Given the description of an element on the screen output the (x, y) to click on. 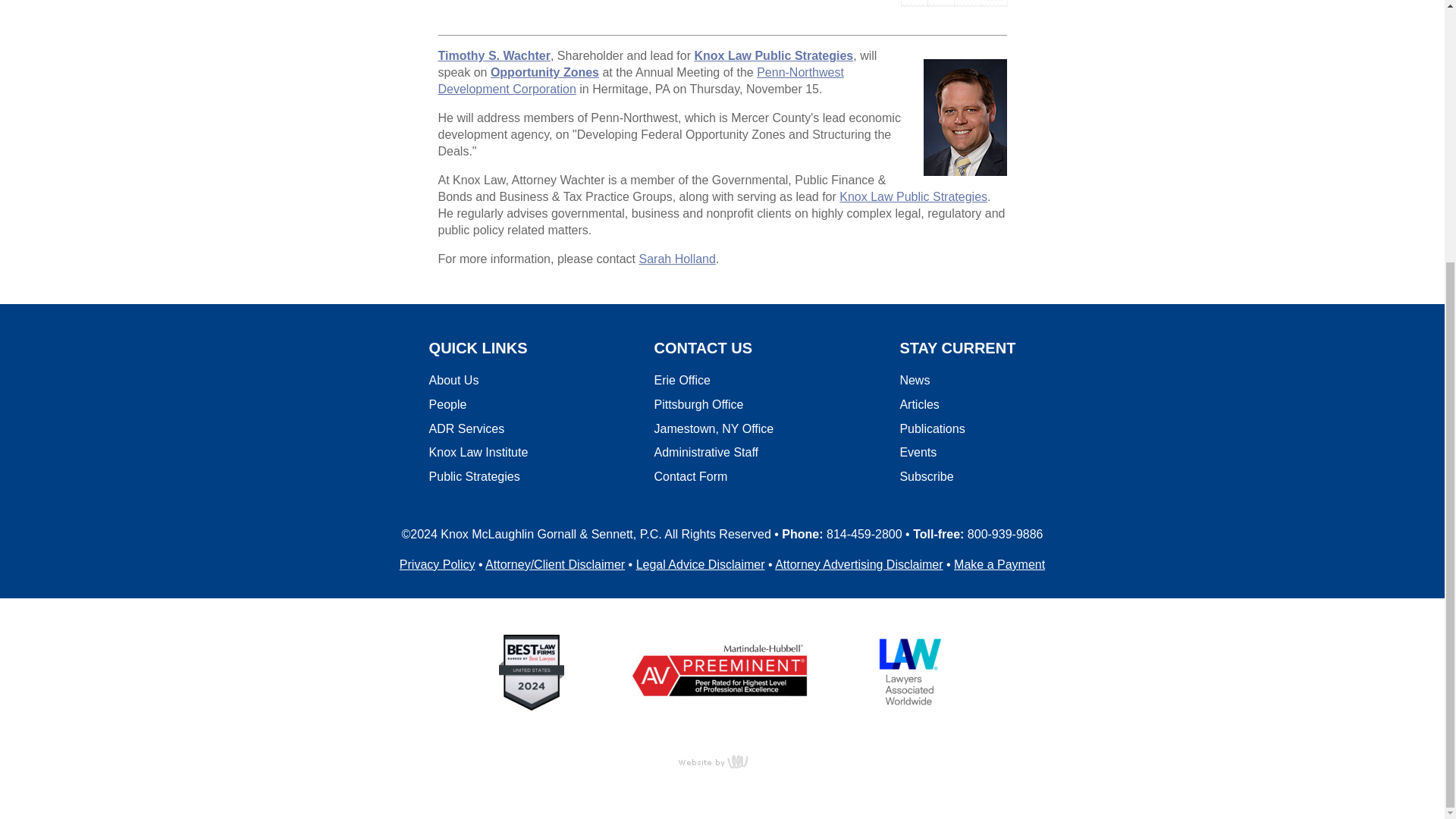
Share on LinkedIn (966, 2)
Share on Facebook (914, 2)
Email (993, 2)
Tweet (939, 2)
